Given the description of an element on the screen output the (x, y) to click on. 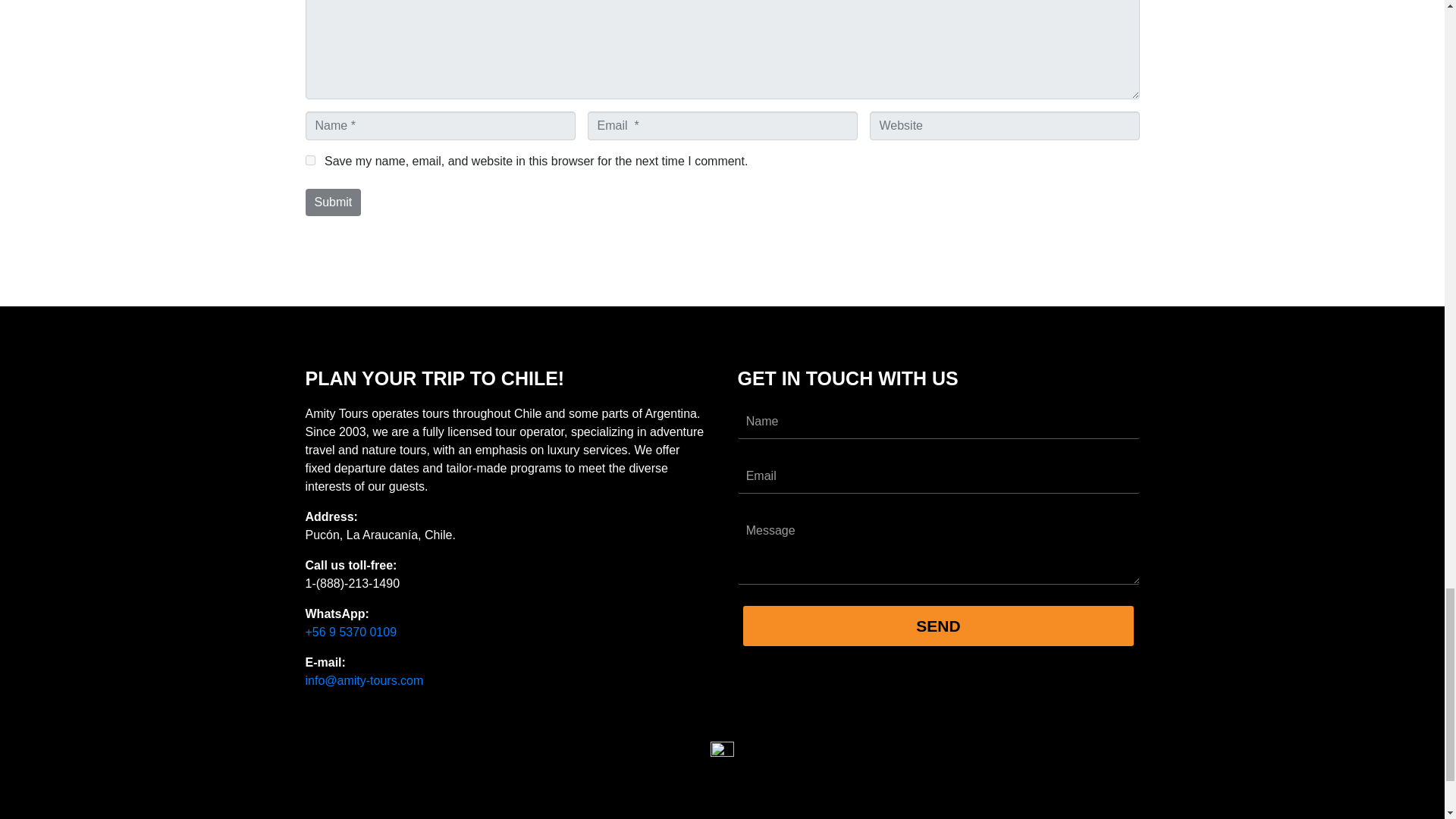
yes (309, 160)
